Given the description of an element on the screen output the (x, y) to click on. 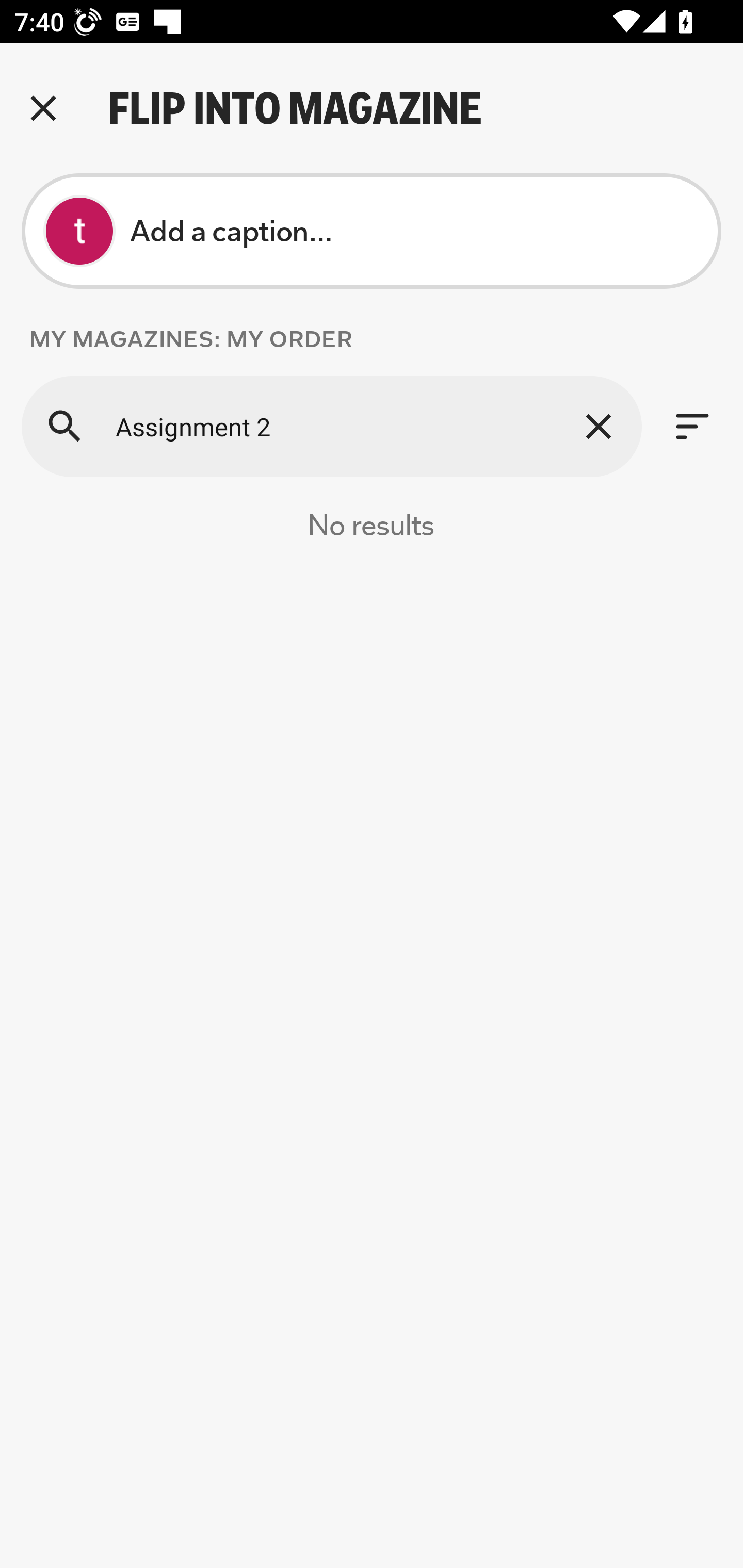
test appium Add a caption… (371, 231)
Assignment 2 Search (331, 426)
